Given the description of an element on the screen output the (x, y) to click on. 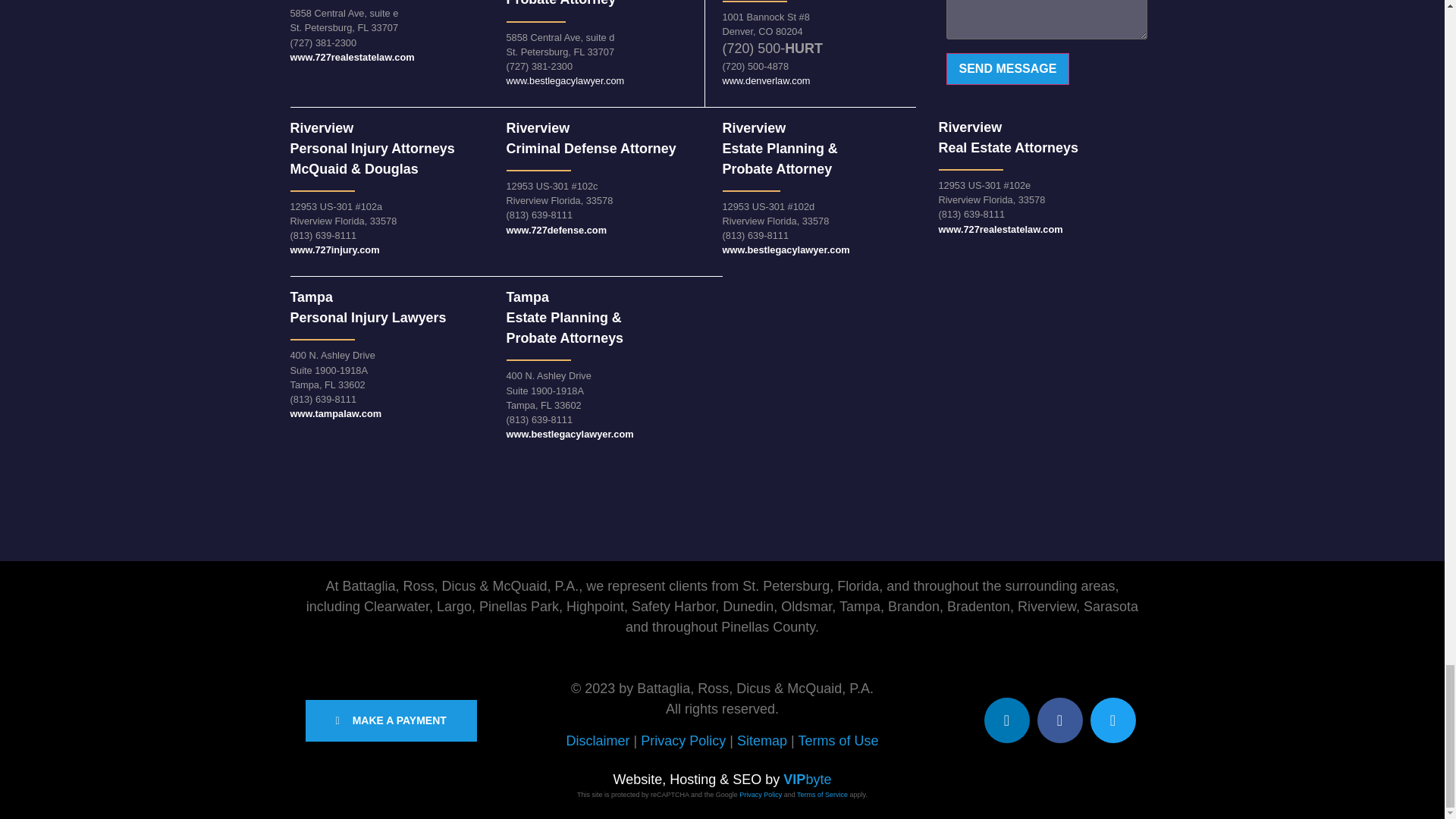
Send Message (1008, 69)
